Given the description of an element on the screen output the (x, y) to click on. 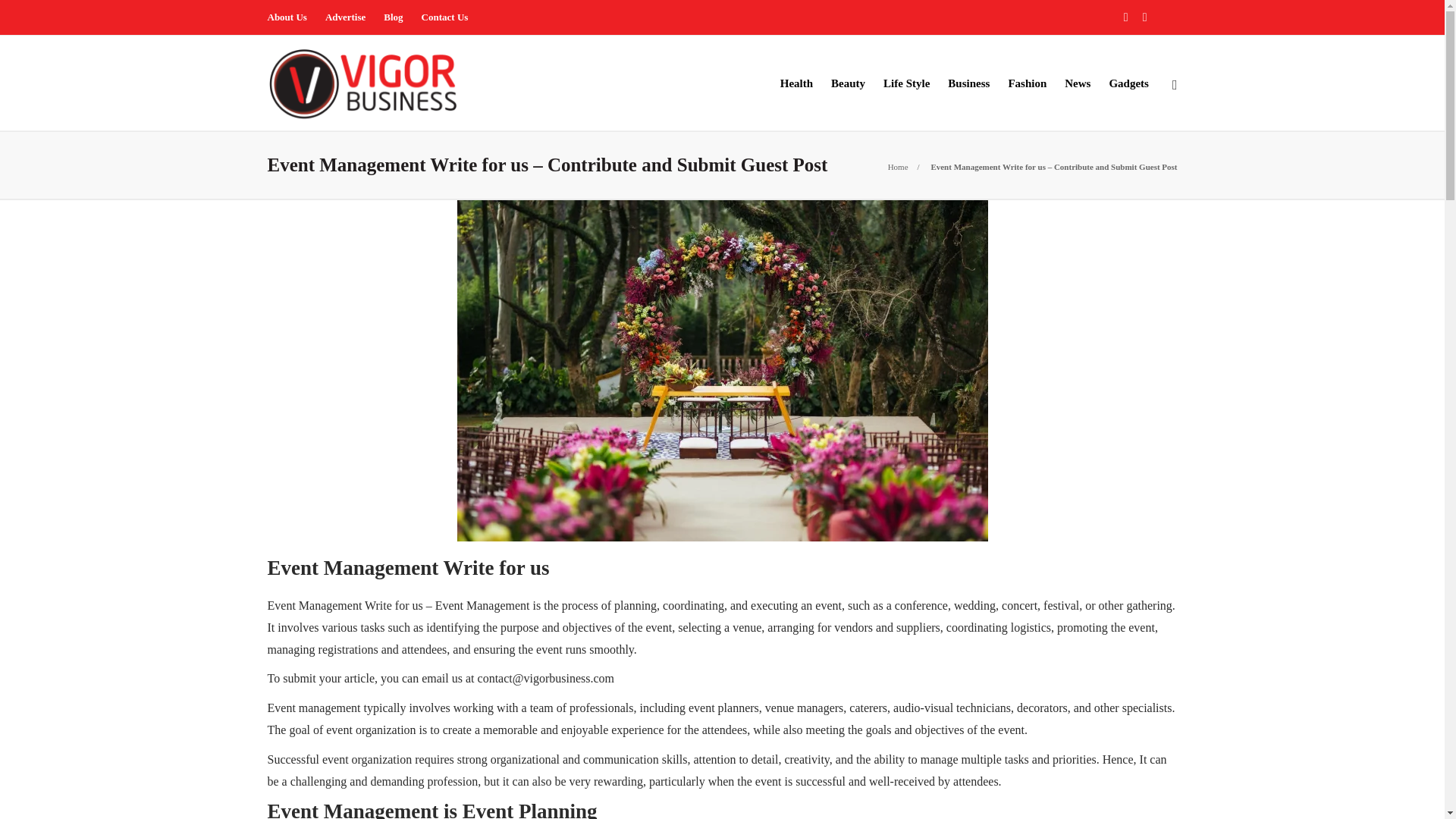
About Us (285, 17)
Contact Us (445, 17)
Home (898, 166)
Advertise (344, 17)
